Given the description of an element on the screen output the (x, y) to click on. 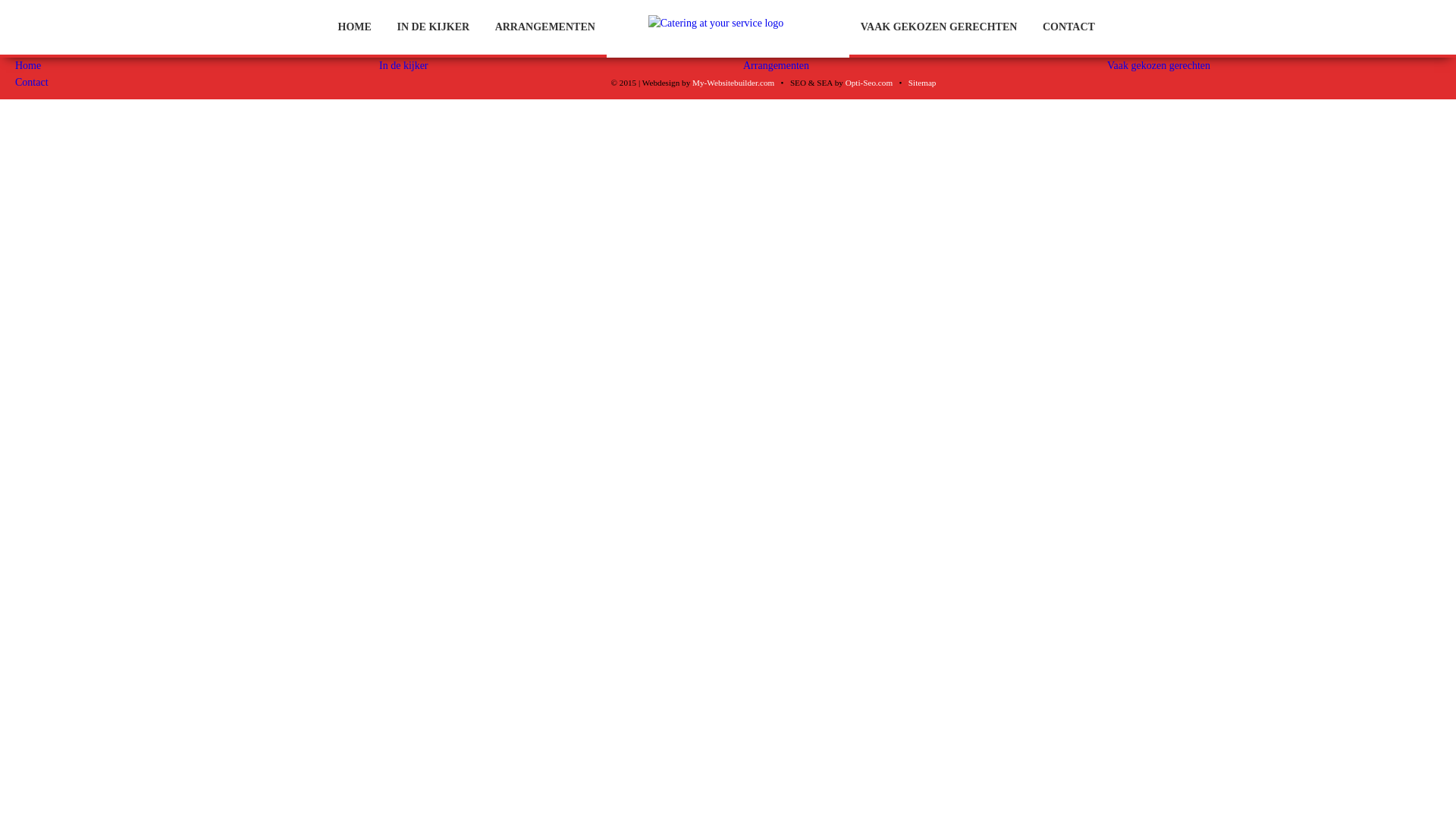
Opti-Seo.com Element type: text (868, 82)
My-Websitebuilder.com Element type: text (733, 82)
IN DE KIJKER Element type: text (432, 27)
VAAK GEKOZEN GERECHTEN Element type: text (939, 27)
CONTACT Element type: text (1068, 27)
Arrangementen Element type: text (776, 65)
HOME Element type: text (354, 27)
In de kijker Element type: text (403, 65)
Sitemap Element type: text (922, 82)
Contact Element type: text (31, 81)
Vaak gekozen gerechten Element type: text (1158, 65)
Home Element type: text (27, 65)
ARRANGEMENTEN Element type: text (544, 27)
